Given the description of an element on the screen output the (x, y) to click on. 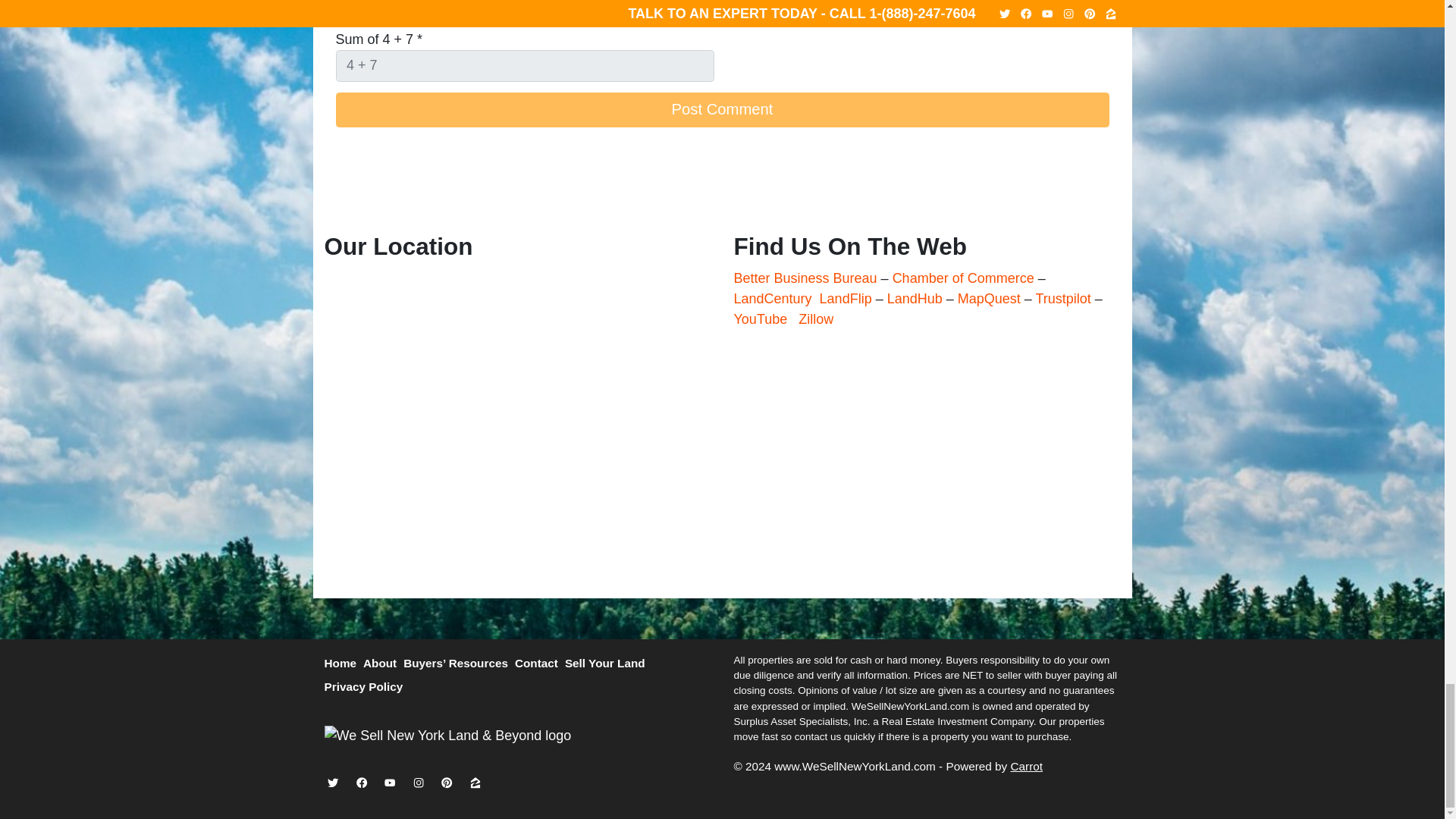
Better Business Bureau (805, 278)
Post Comment (721, 109)
yes (339, 8)
Chamber of Commerce (965, 278)
LandHub (914, 298)
LandFlip (845, 298)
Post Comment (721, 109)
LandCentury (772, 298)
